Given the description of an element on the screen output the (x, y) to click on. 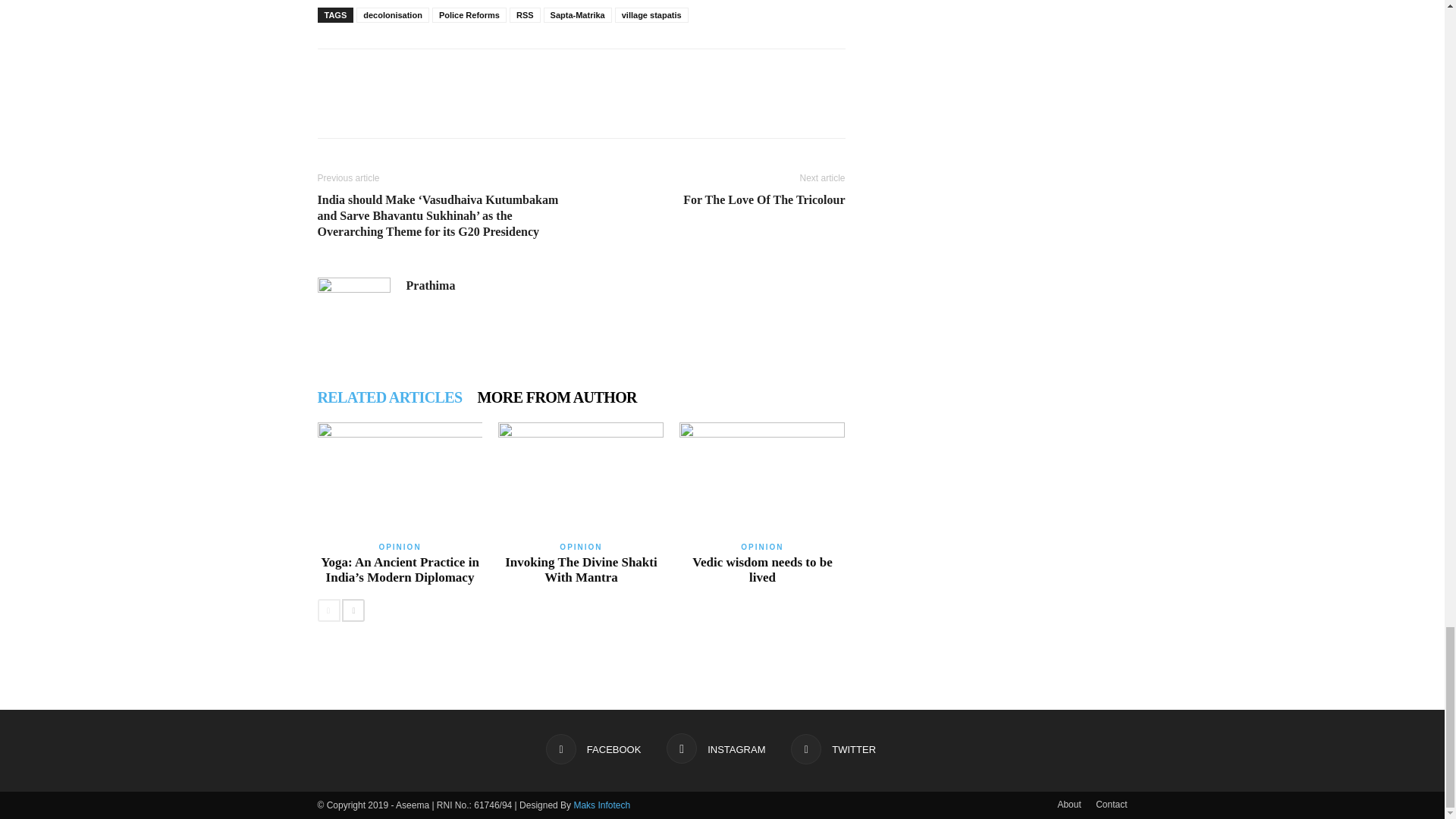
Vedic wisdom needs to be lived (761, 479)
Vedic wisdom needs to be lived (762, 569)
Invoking The Divine Shakti With Mantra (580, 479)
Invoking The Divine Shakti With Mantra (580, 569)
